Given the description of an element on the screen output the (x, y) to click on. 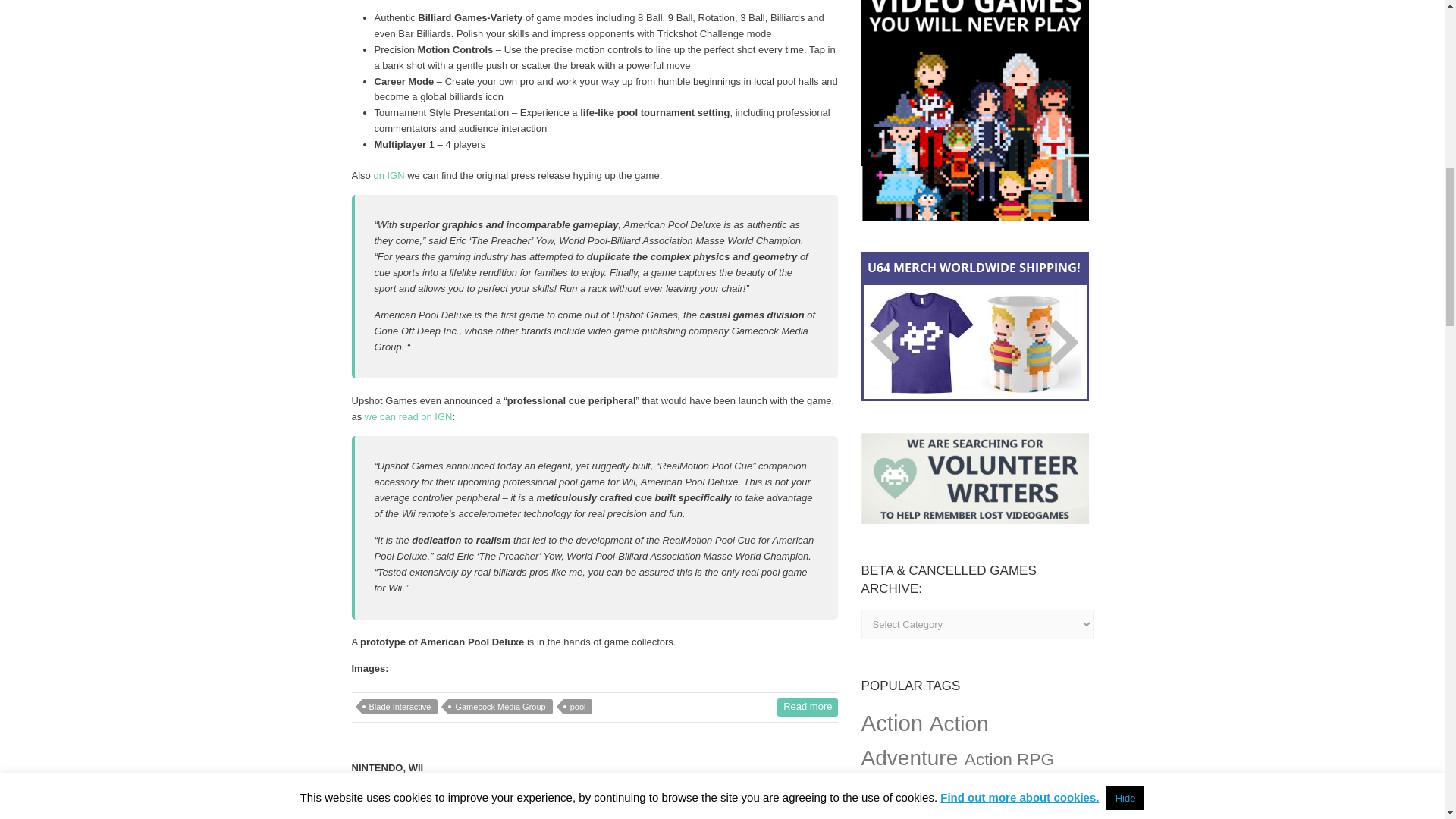
we can read on IGN (408, 416)
No Comments (539, 814)
Read more (807, 707)
pool (577, 706)
27-11-2010 (457, 814)
monokoma (383, 814)
NINTENDO (377, 771)
08:49 (457, 814)
on IGN (388, 174)
Gamecock Media Group (499, 706)
Blade Interactive (400, 706)
